Given the description of an element on the screen output the (x, y) to click on. 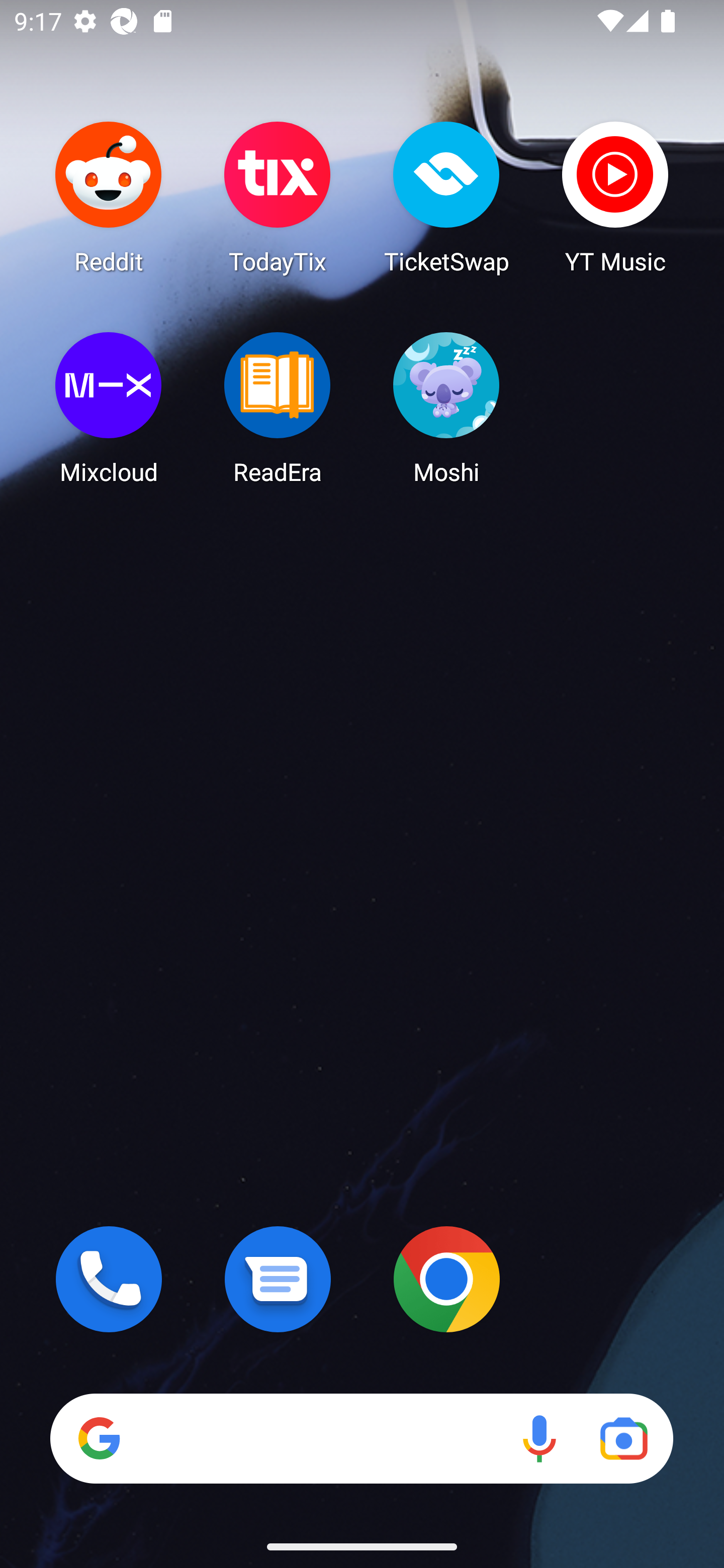
Reddit (108, 196)
TodayTix (277, 196)
TicketSwap (445, 196)
YT Music (615, 196)
Mixcloud (108, 407)
ReadEra (277, 407)
Moshi (445, 407)
Phone (108, 1279)
Messages (277, 1279)
Chrome (446, 1279)
Voice search (539, 1438)
Google Lens (623, 1438)
